Given the description of an element on the screen output the (x, y) to click on. 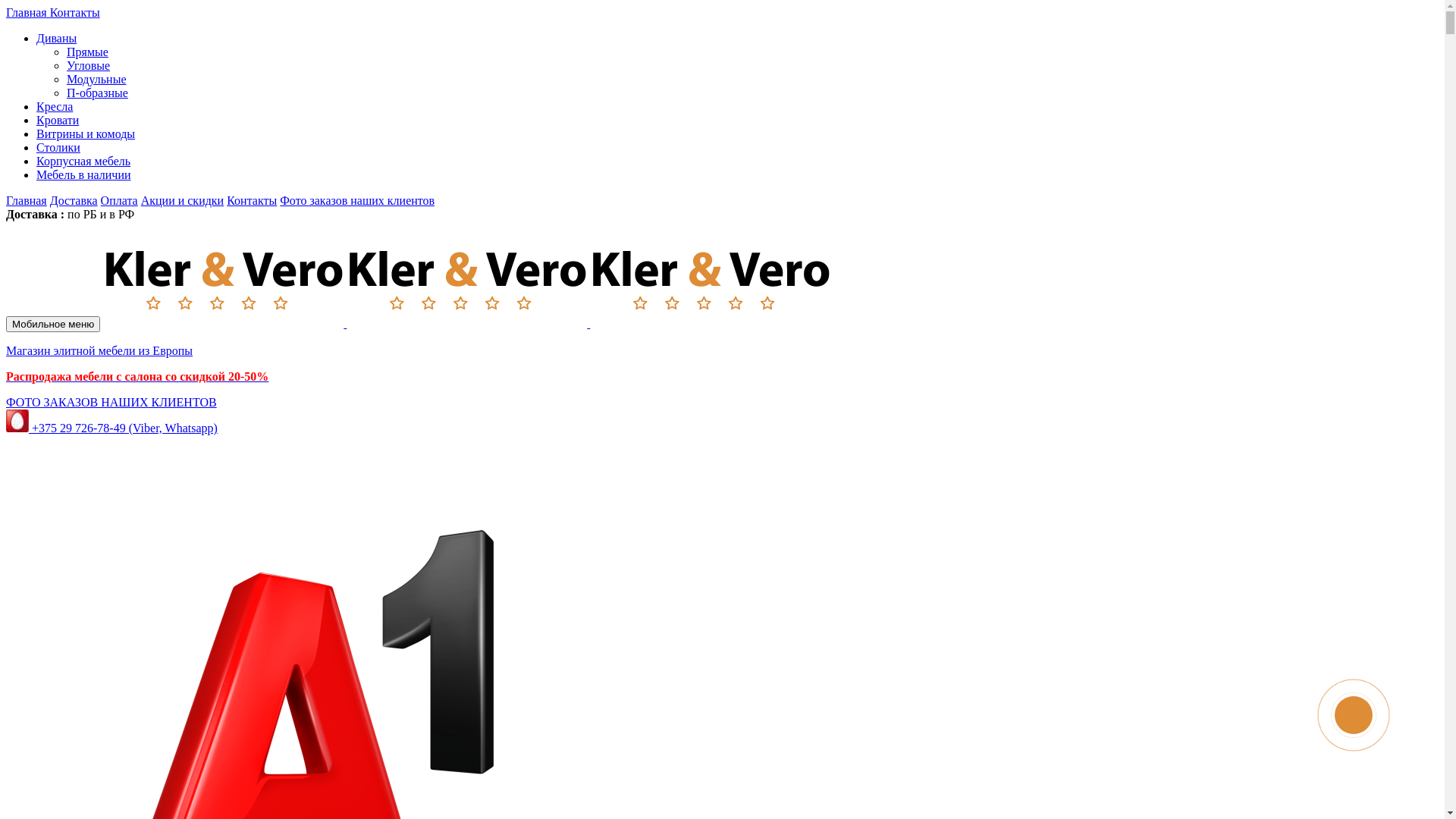
+375 29 726-78-49 (Viber, Whatsapp) Element type: text (111, 427)
